Given the description of an element on the screen output the (x, y) to click on. 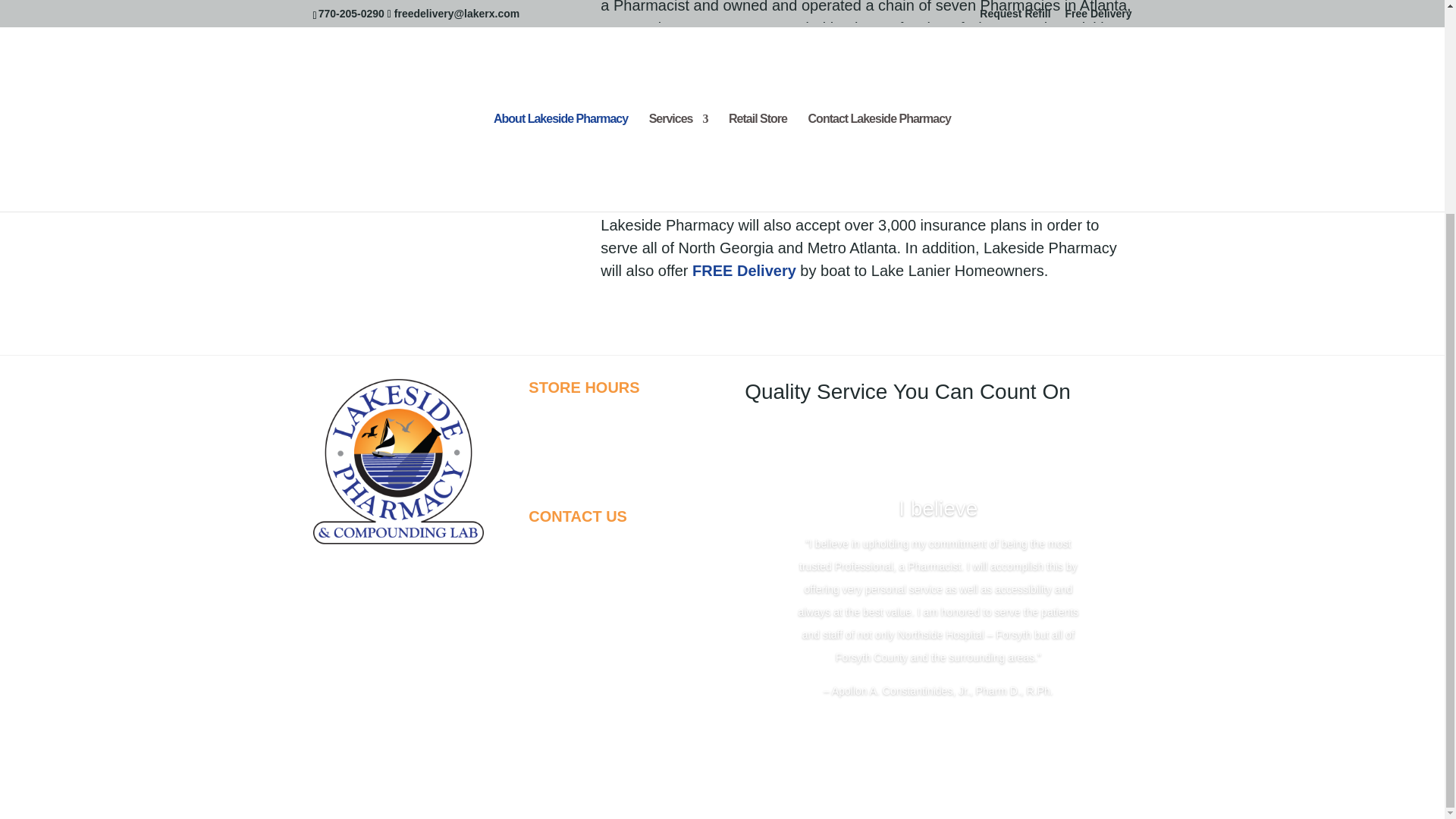
I believe (937, 508)
FREE Delivery (769, 202)
FREE Delivery (744, 270)
